Given the description of an element on the screen output the (x, y) to click on. 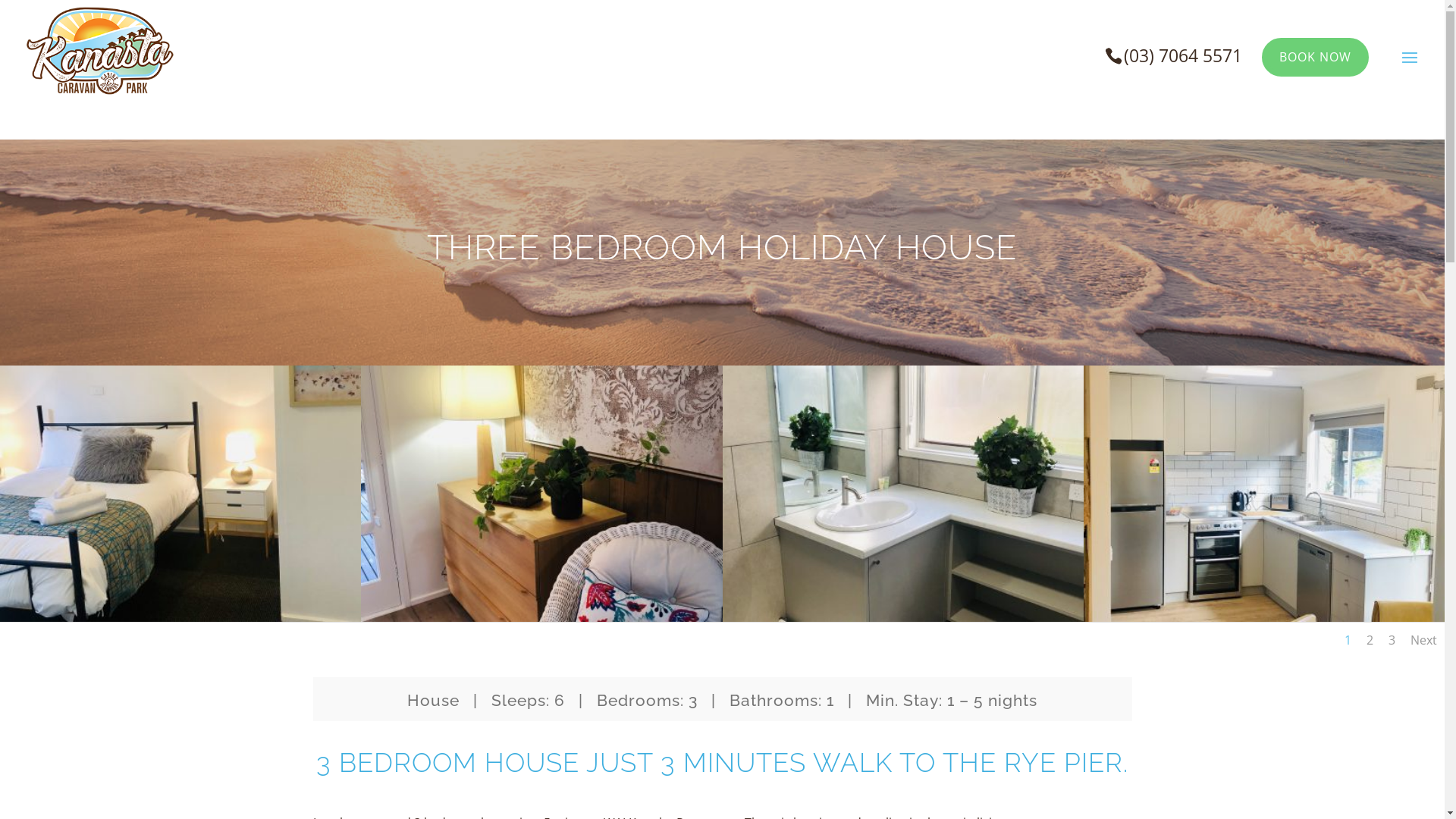
2 Element type: text (1369, 639)
1 Element type: text (1347, 639)
IMG_2263 Element type: hover (901, 616)
3 Element type: text (1391, 639)
IMG_2245 Element type: hover (1263, 616)
BOOK NOW Element type: text (1314, 56)
Next Element type: text (1423, 639)
11Rosyth mainbedroom Element type: hover (180, 616)
IMG_2264 Element type: hover (540, 616)
